Given the description of an element on the screen output the (x, y) to click on. 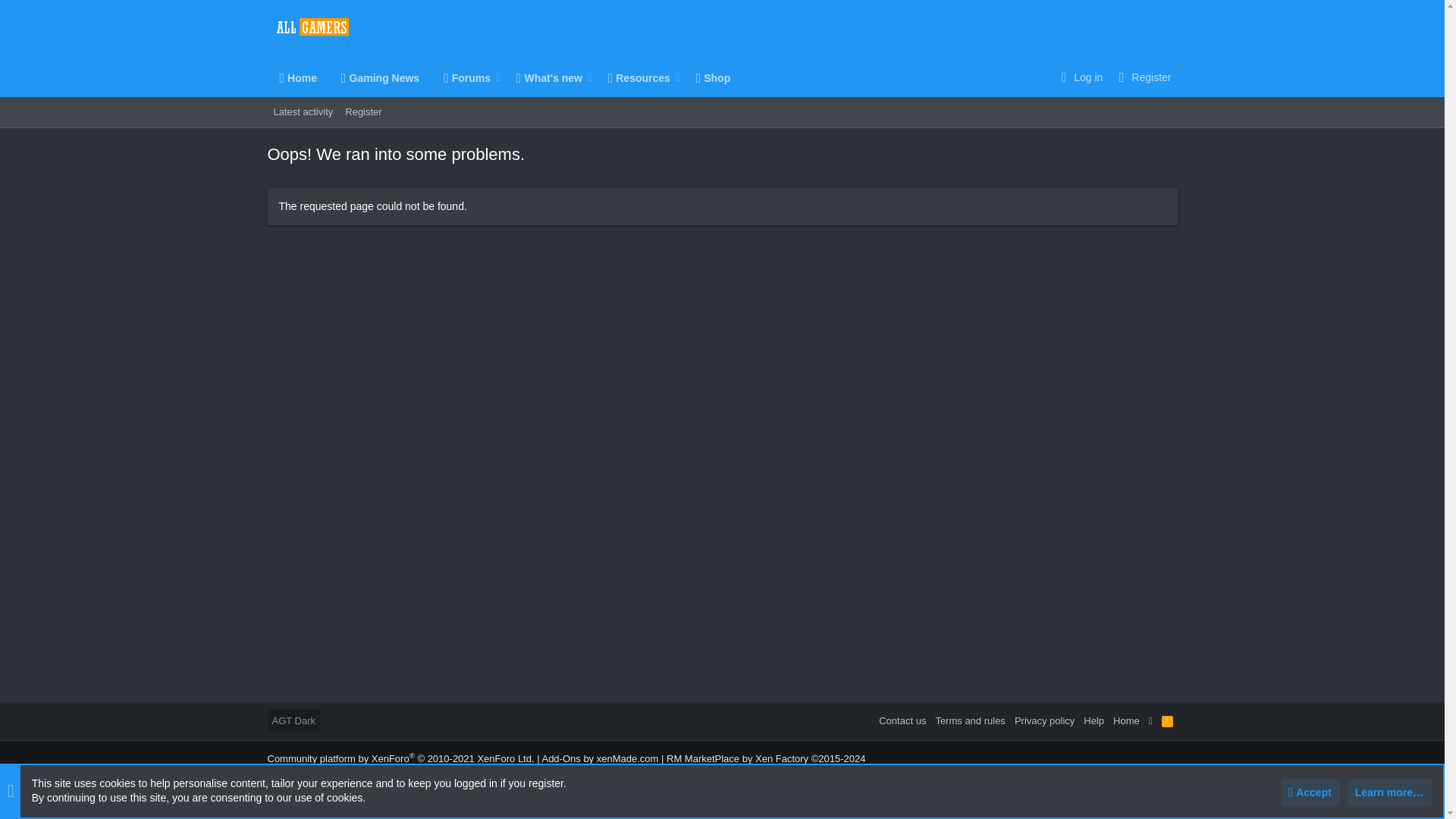
Home (297, 77)
XenForo Add-ons (765, 758)
Privacy policy (1044, 721)
RSS (1167, 721)
Register (363, 112)
Forums (326, 112)
What's new (461, 77)
Log in (543, 77)
Register (1079, 77)
